Given the description of an element on the screen output the (x, y) to click on. 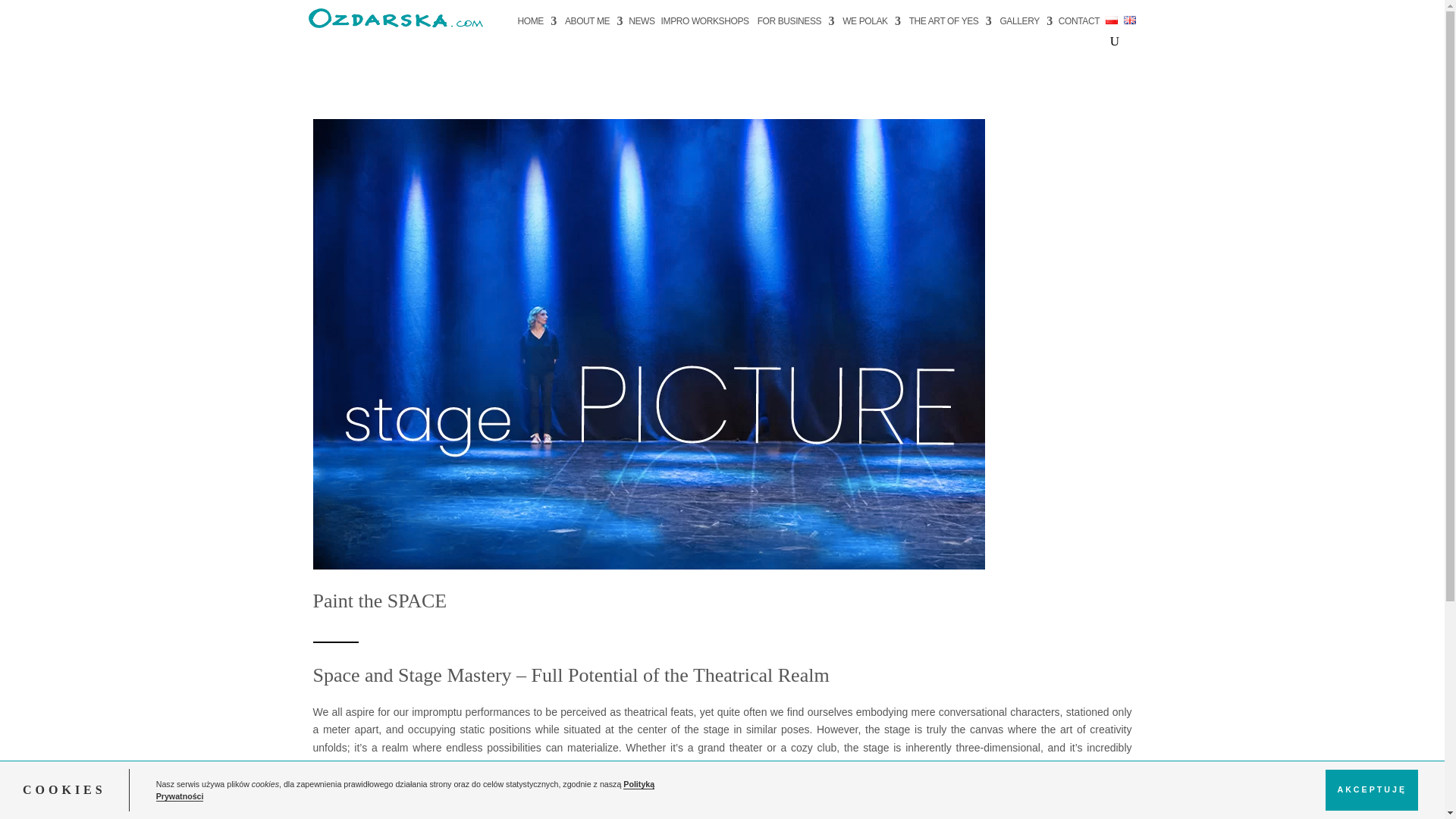
NEWS (640, 24)
ozdarska-logo-new (395, 17)
THE ART OF YES (949, 24)
WE POLAK (869, 24)
GALLERY (1024, 24)
CONTACT (1078, 24)
ABOUT ME (592, 24)
HOME (535, 24)
FOR BUSINESS (794, 24)
IMPRO WORKSHOPS (705, 24)
